Given the description of an element on the screen output the (x, y) to click on. 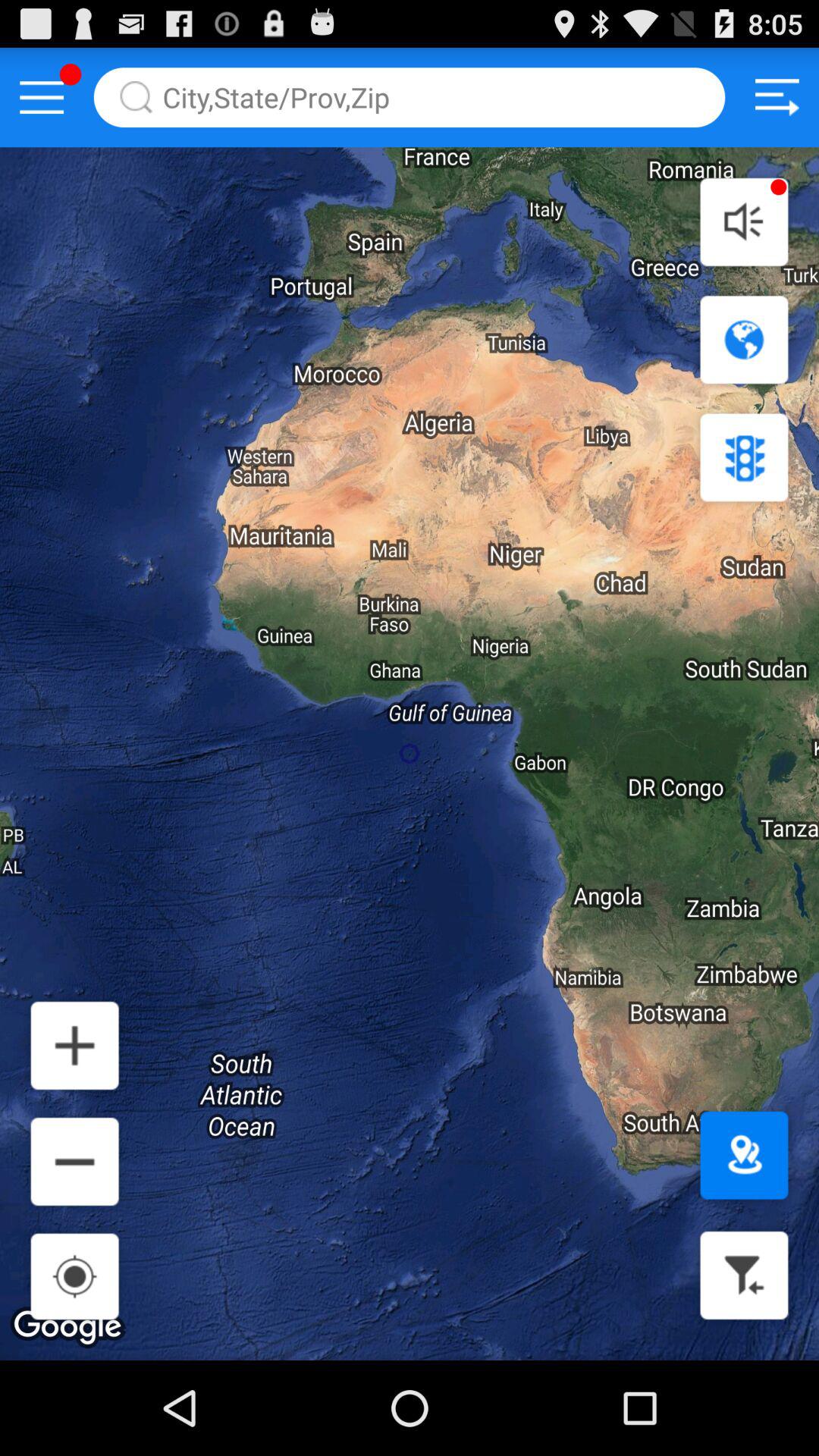
sound adjust option (744, 221)
